Given the description of an element on the screen output the (x, y) to click on. 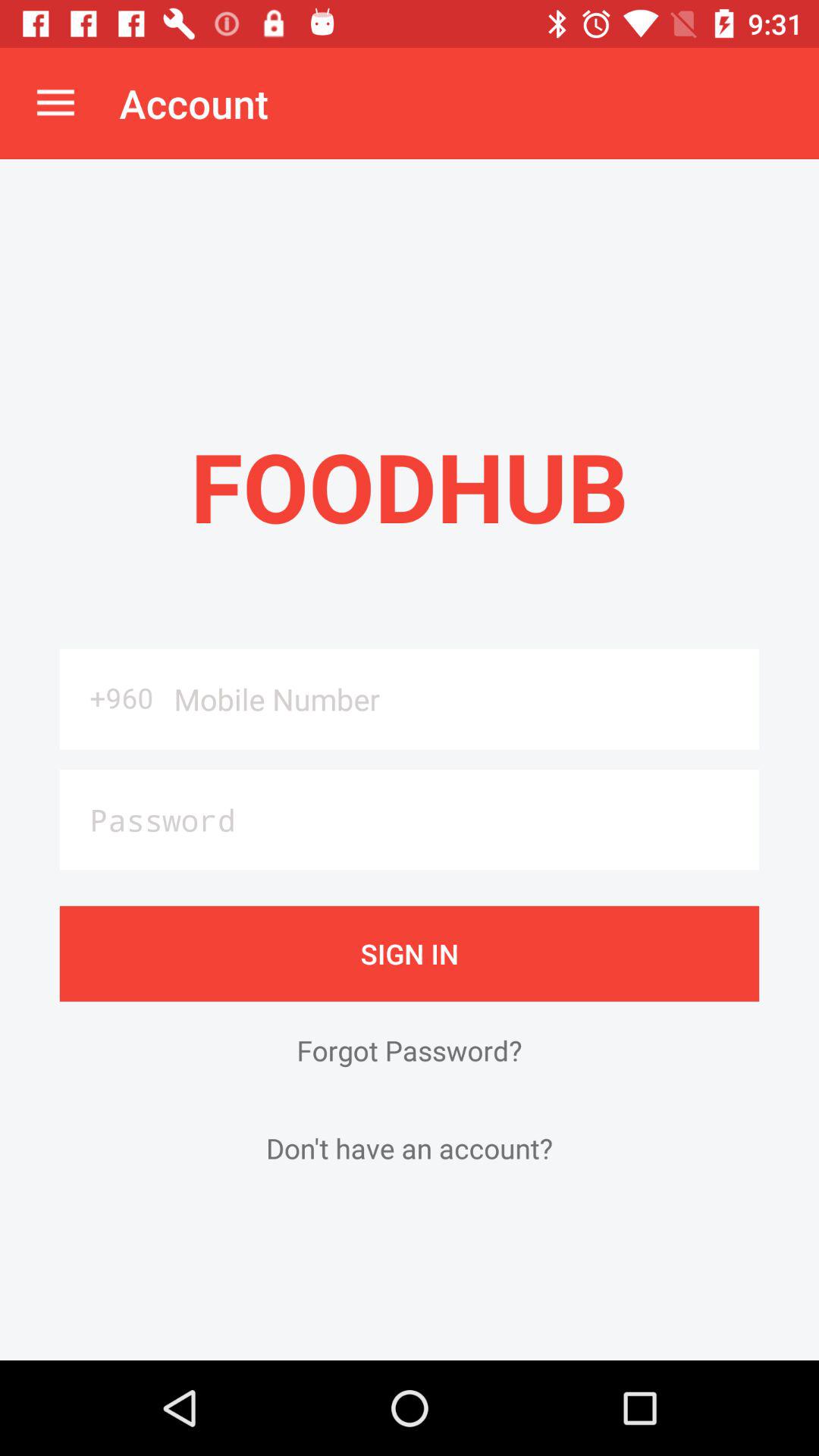
turn on the item below the foodhub item (461, 698)
